Given the description of an element on the screen output the (x, y) to click on. 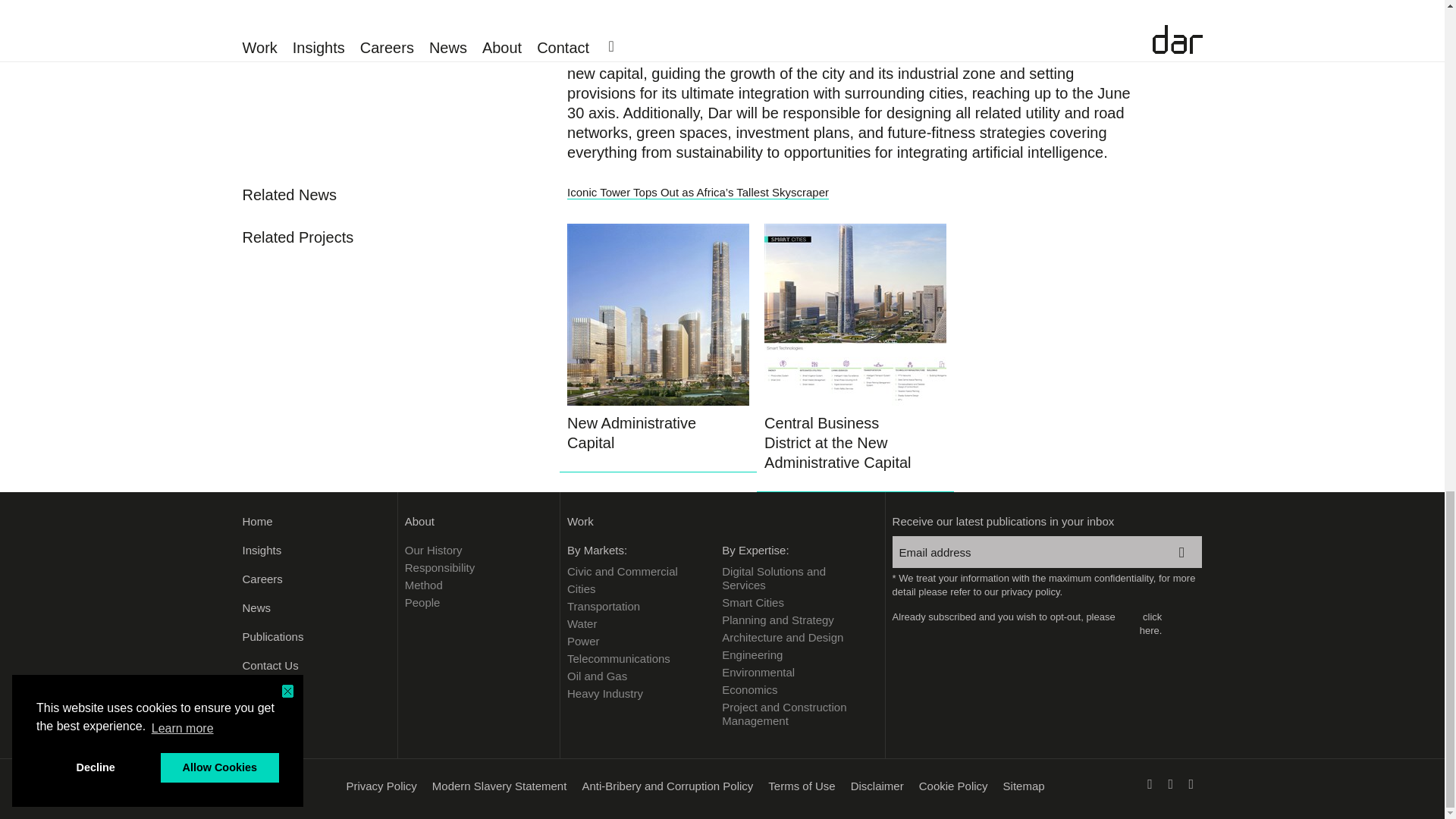
News (316, 608)
Insights (316, 550)
Smart Cities (791, 602)
Follow us on LinkedIn (1169, 786)
About (477, 521)
Digital Solutions and Services (791, 578)
Architecture and Design (791, 637)
Follow us on Facebook (1149, 786)
Home (316, 521)
Planning and Strategy (791, 620)
Telecommunications (636, 658)
Transportation (636, 606)
Civic and Commercial (636, 571)
Oil and Gas (636, 676)
Work (722, 521)
